Given the description of an element on the screen output the (x, y) to click on. 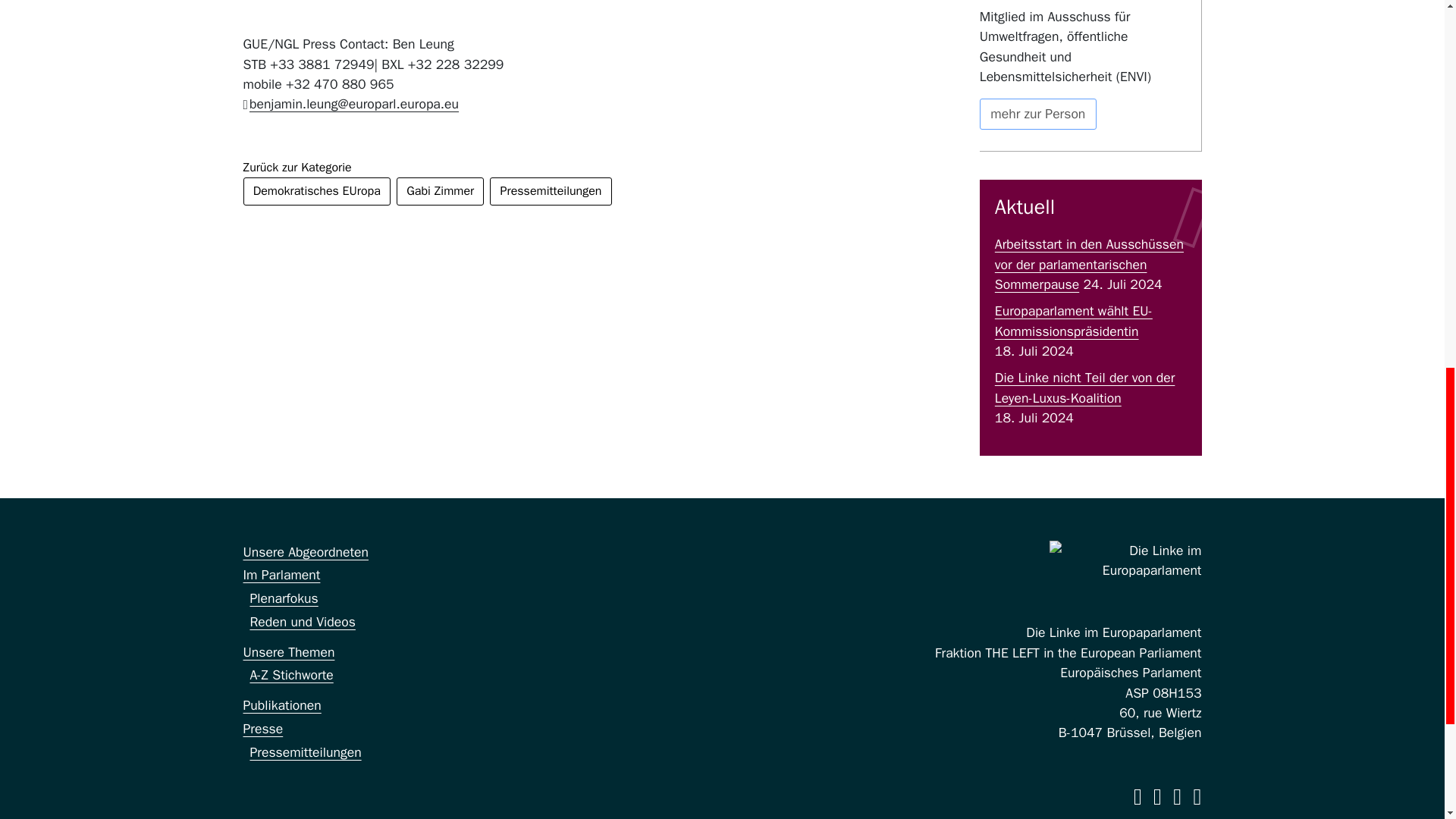
Pressemitteilungen (550, 191)
Demokratisches EUropa (316, 191)
Gabi Zimmer (439, 191)
